Given the description of an element on the screen output the (x, y) to click on. 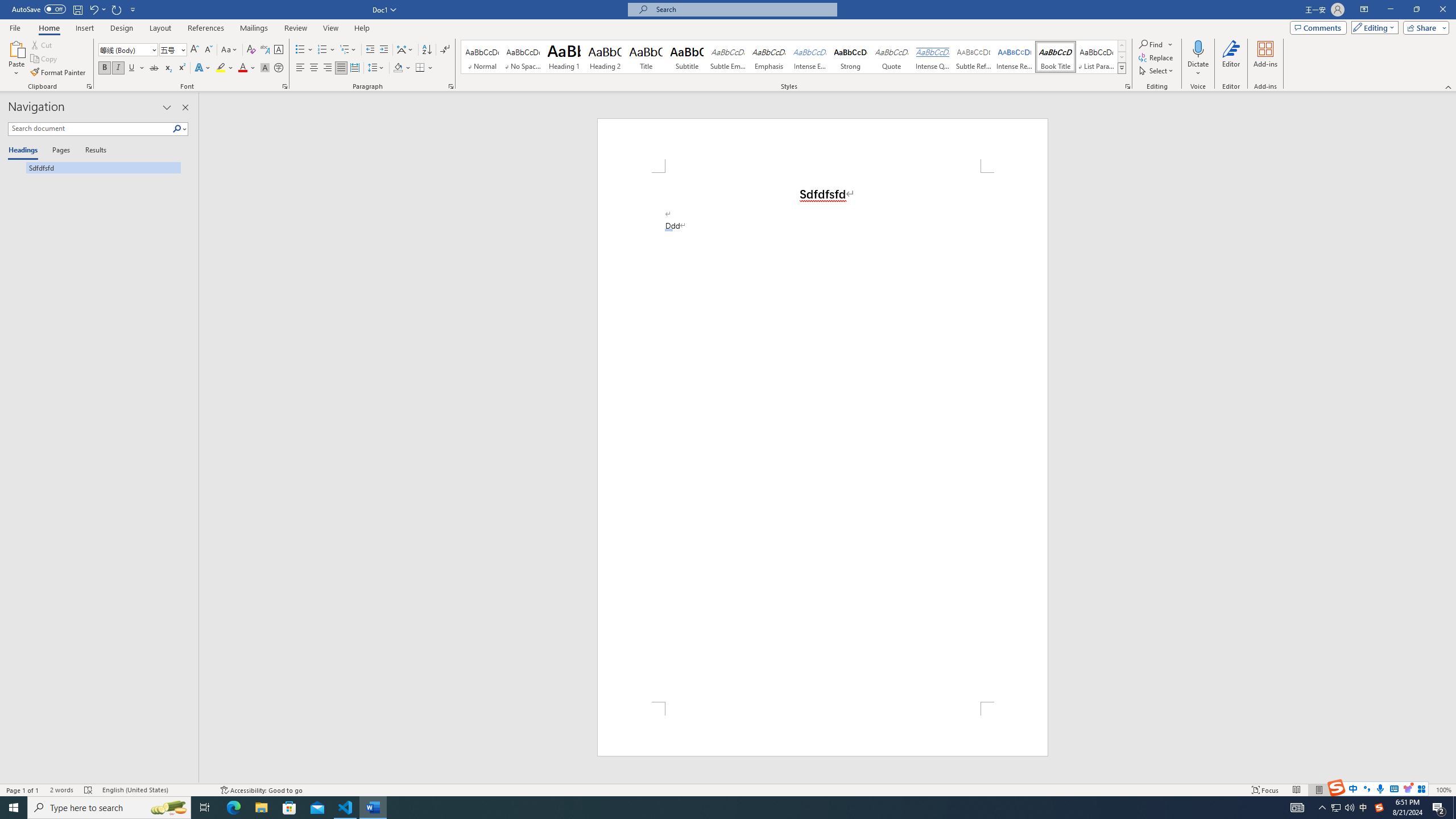
Font (124, 49)
Font Size (172, 49)
Search (177, 128)
Superscript (180, 67)
